Given the description of an element on the screen output the (x, y) to click on. 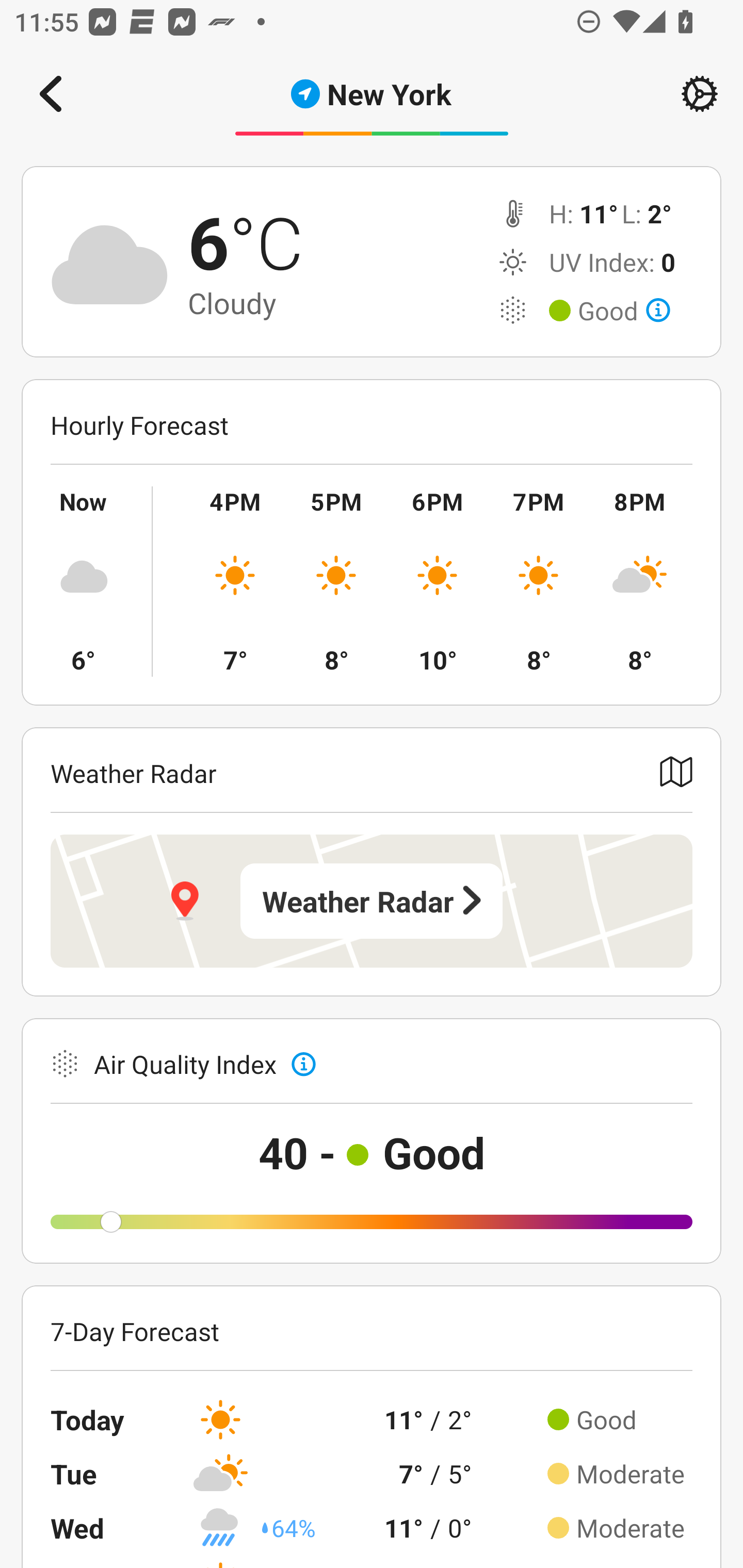
Navigate up (50, 93)
Setting (699, 93)
Good (624, 310)
Weather Radar (371, 900)
